Given the description of an element on the screen output the (x, y) to click on. 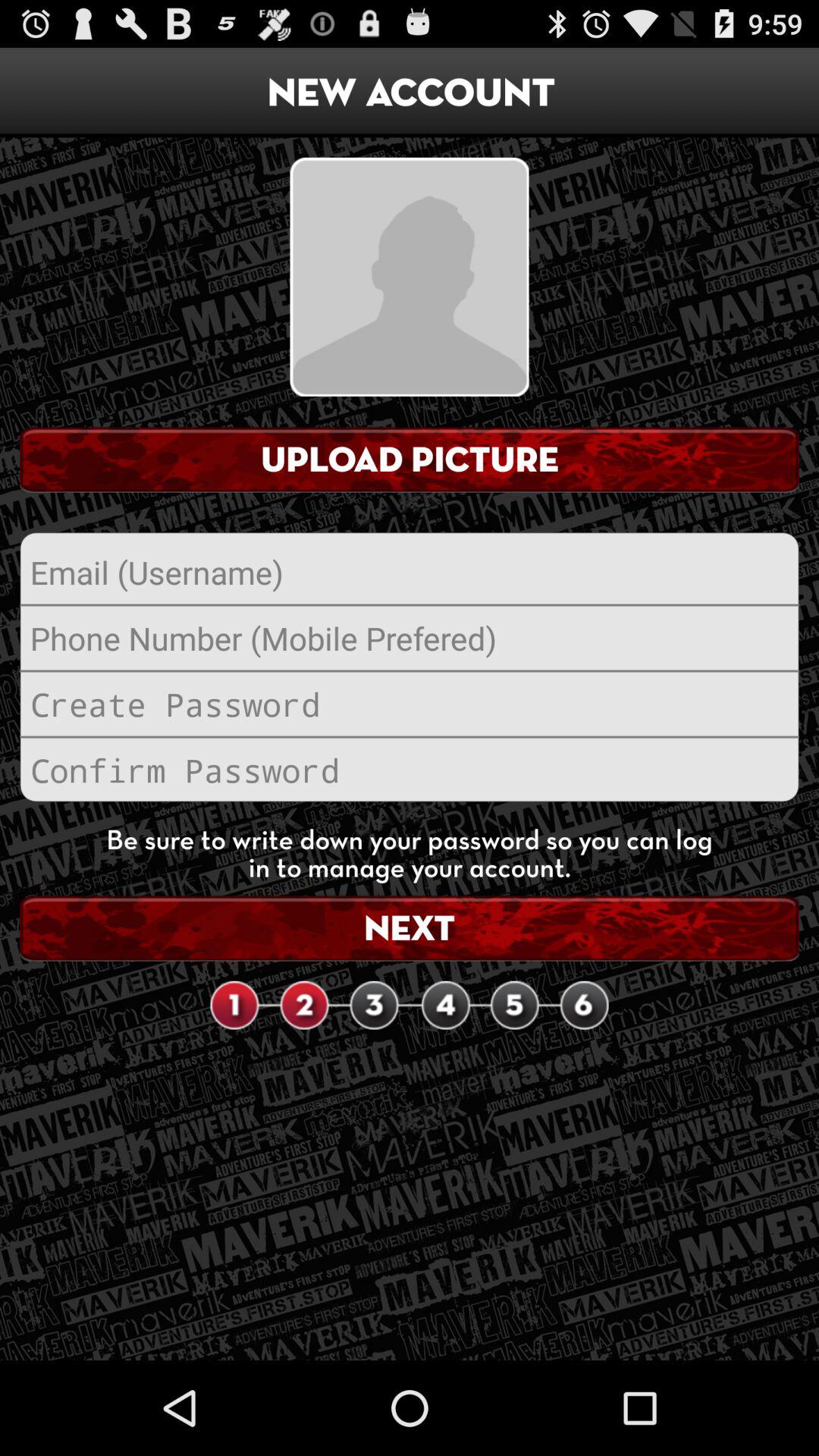
choose the item below new account icon (409, 276)
